Given the description of an element on the screen output the (x, y) to click on. 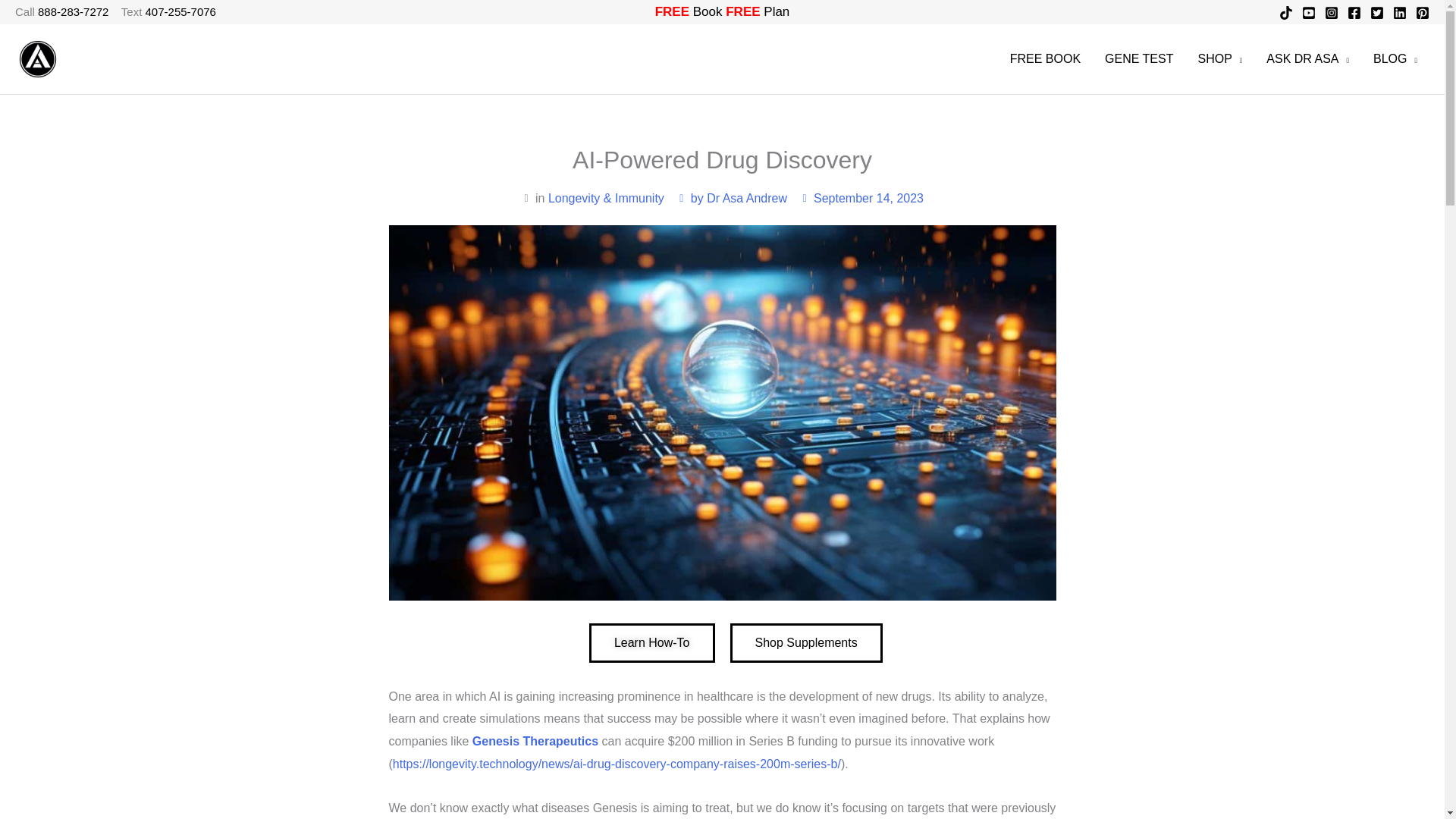
407-255-7076 (180, 11)
FREE Plan (757, 11)
888-283-7272 (72, 11)
SHOP (1219, 58)
FREE Book (688, 11)
FREE BOOK (1045, 58)
BLOG (1395, 58)
GENE TEST (1139, 58)
ASK DR ASA (1307, 58)
